Given the description of an element on the screen output the (x, y) to click on. 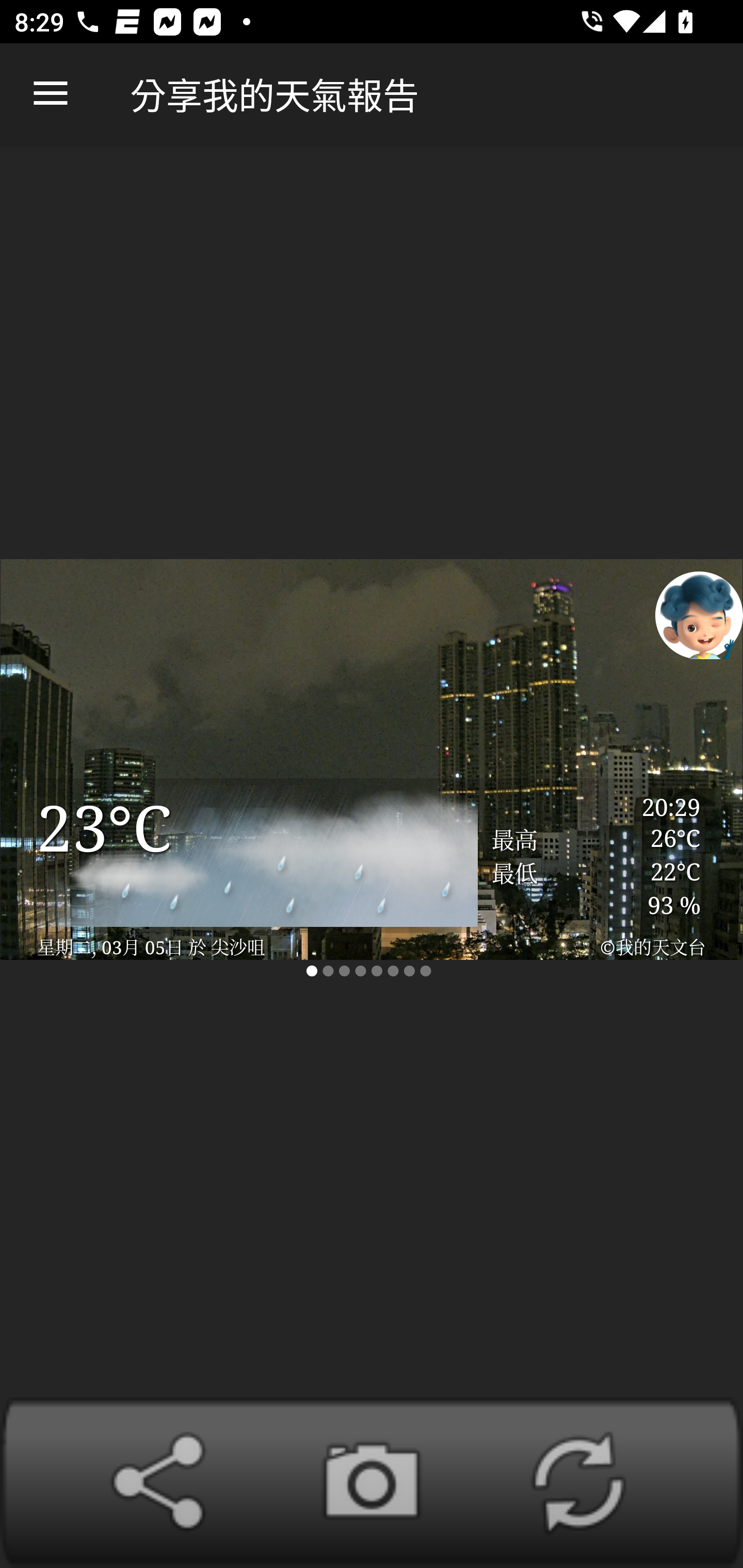
向上瀏覽 (50, 93)
聊天機械人 (699, 614)
分享 (164, 1482)
拍攝 (371, 1482)
重新整理 (577, 1482)
